Given the description of an element on the screen output the (x, y) to click on. 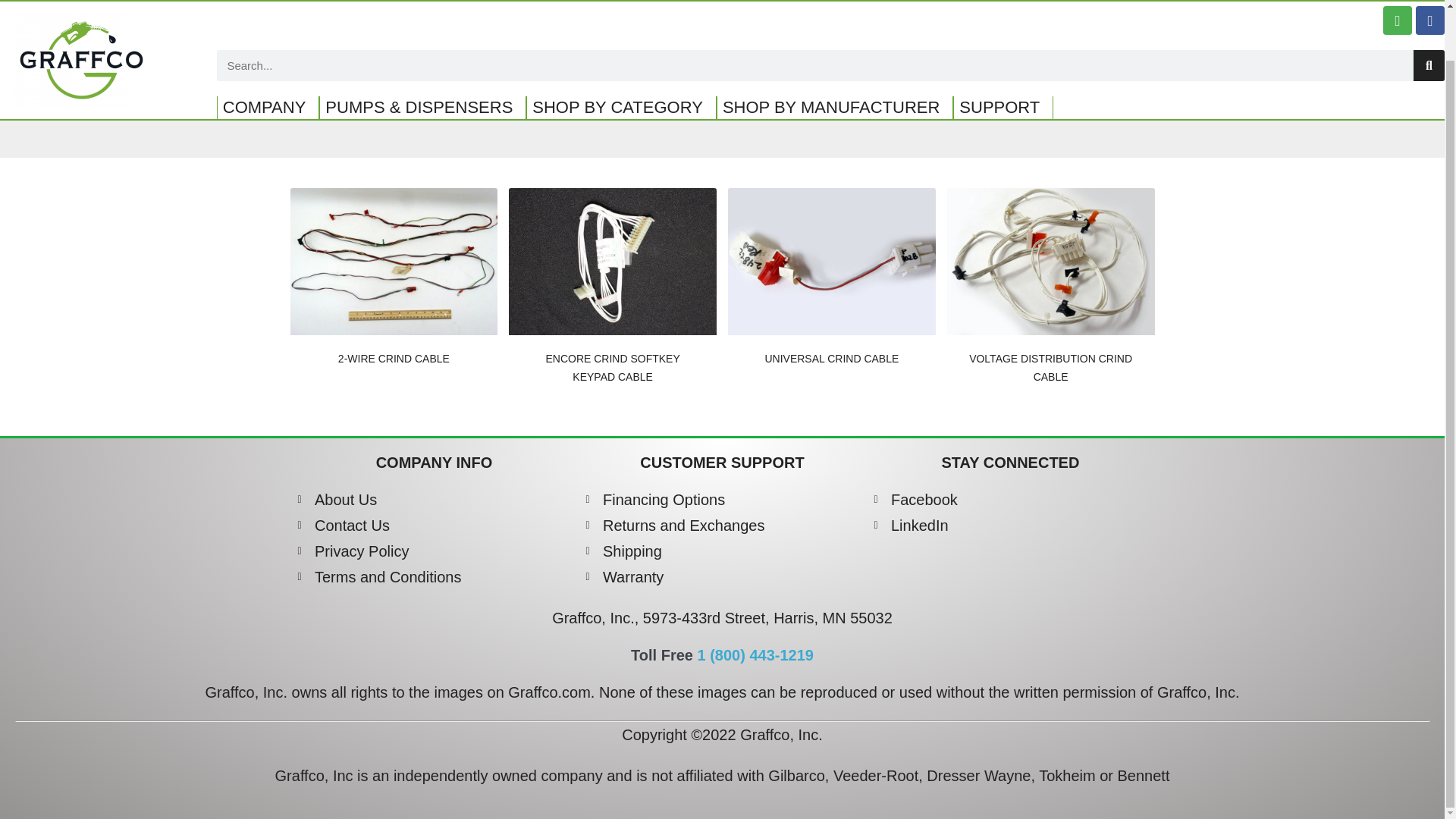
SHOP BY MANUFACTURER (834, 53)
COMPANY (268, 53)
SUPPORT (1002, 53)
SHOP BY CATEGORY (620, 53)
